Given the description of an element on the screen output the (x, y) to click on. 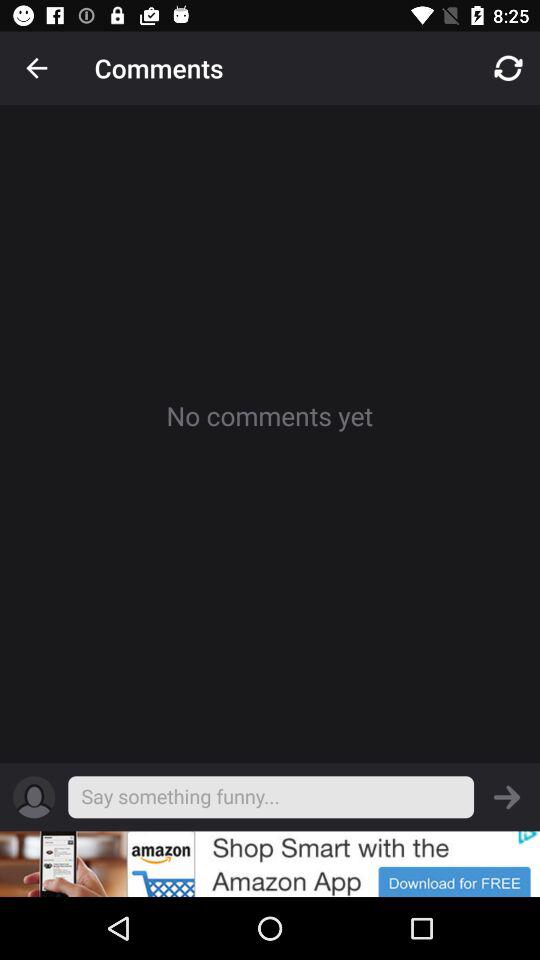
send message (507, 797)
